Given the description of an element on the screen output the (x, y) to click on. 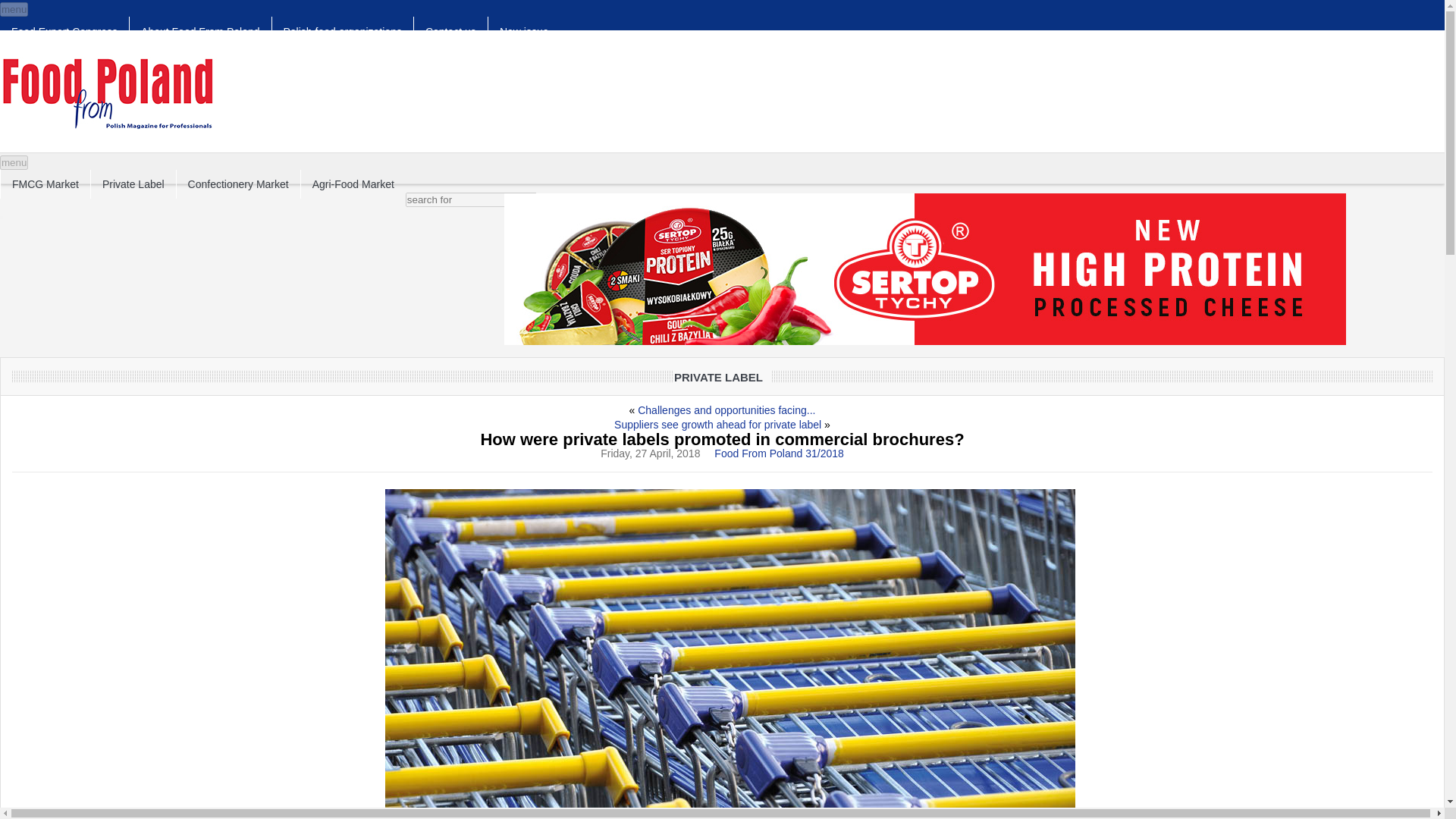
Challenges and opportunities facing... (726, 410)
Suppliers see growth ahead for private label (717, 424)
New issue (523, 31)
Sertop (924, 342)
Food Export Congress (64, 31)
Agri-Food Market (353, 184)
Sertop (924, 268)
menu (13, 9)
Challenges and opportunities facing private label (726, 410)
Private Label (132, 184)
PRIVATE LABEL (718, 377)
FMCG Market (44, 184)
About Food From Poland (200, 31)
Polish food organizations (342, 31)
Food From Poland (108, 92)
